Given the description of an element on the screen output the (x, y) to click on. 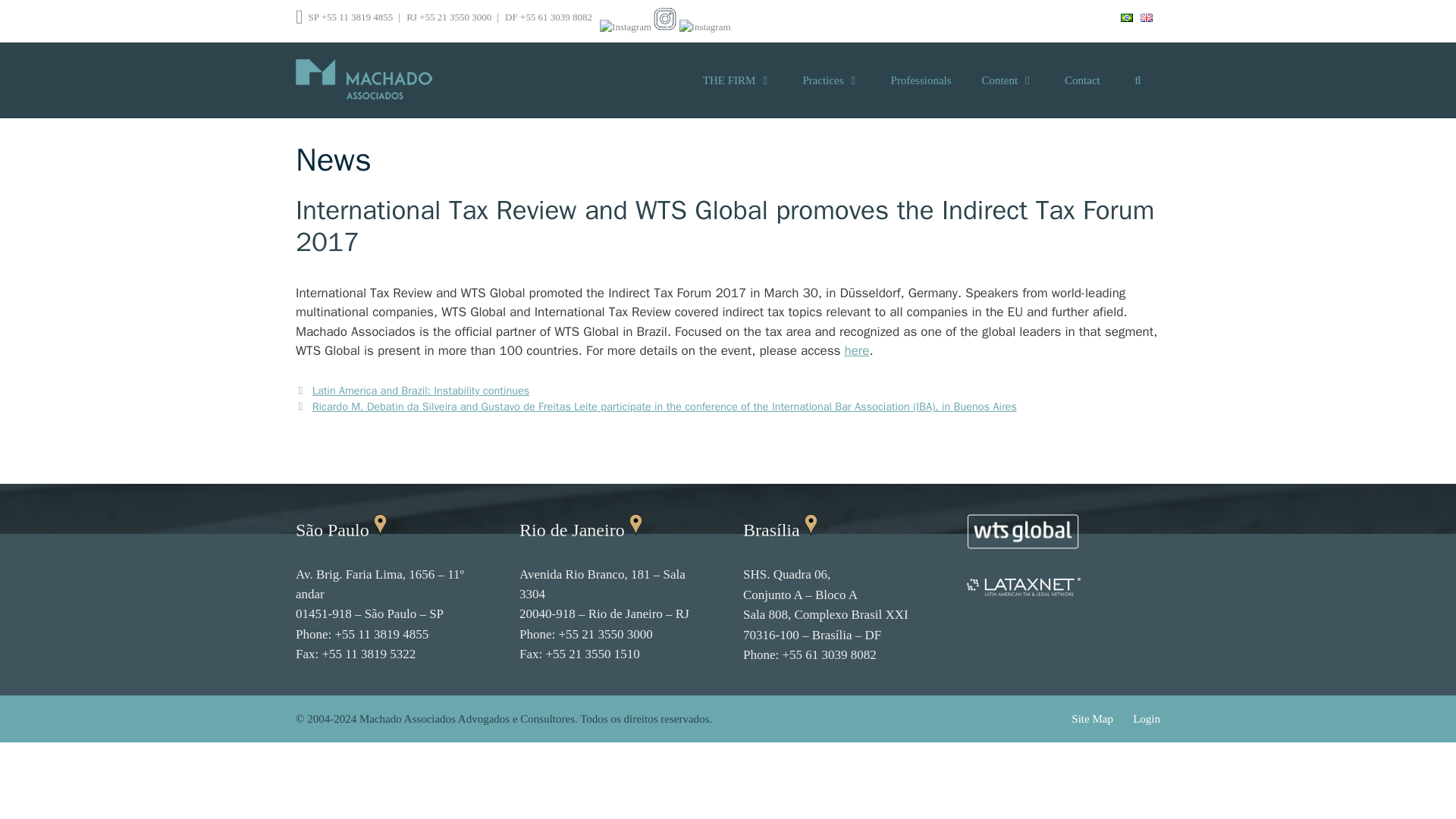
THE FIRM (737, 80)
Content (1007, 80)
Professionals (921, 80)
Practices (831, 80)
Contact (1082, 80)
